Given the description of an element on the screen output the (x, y) to click on. 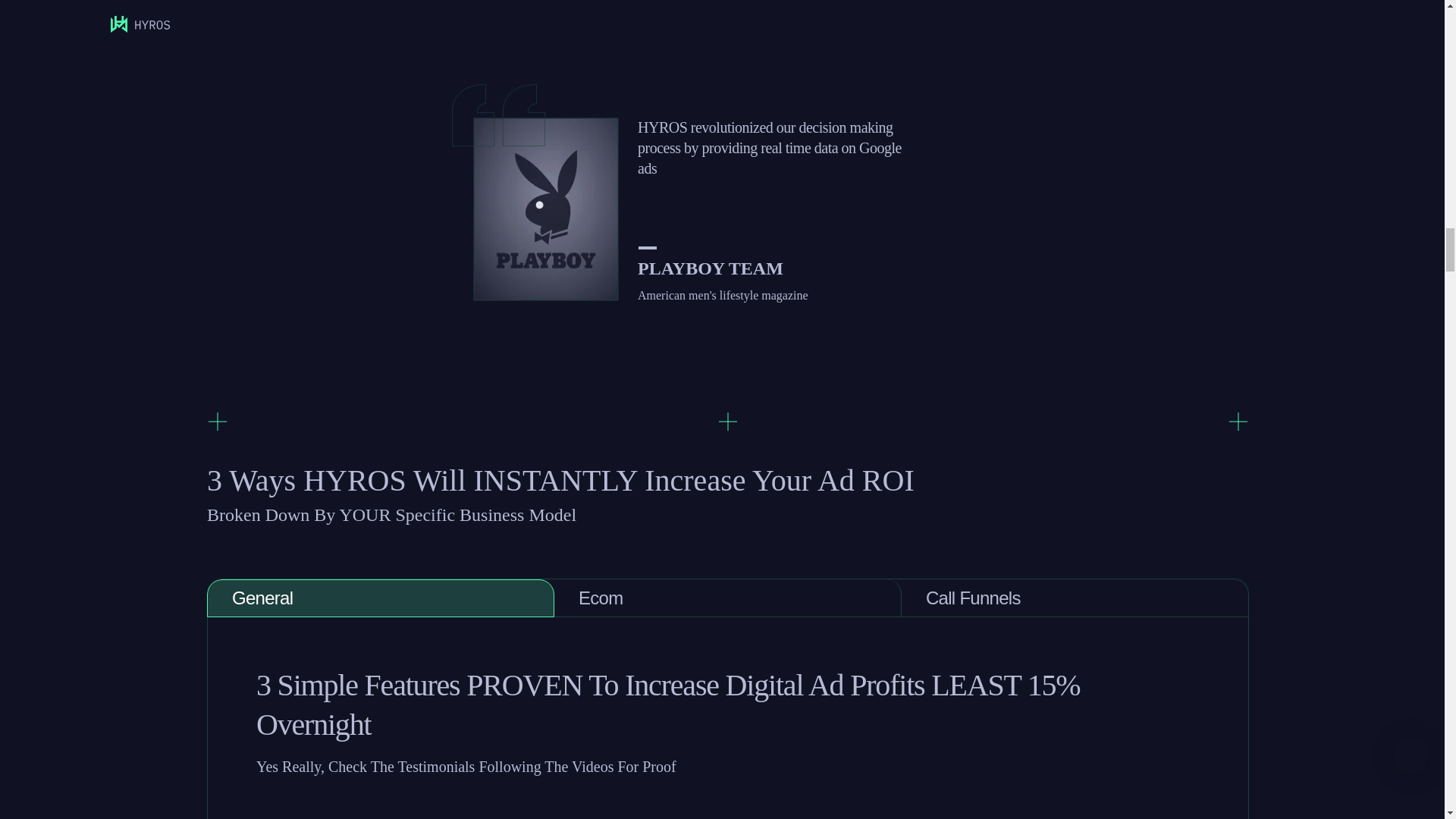
Call Funnels (1075, 598)
Ecom (727, 598)
General (380, 598)
